Given the description of an element on the screen output the (x, y) to click on. 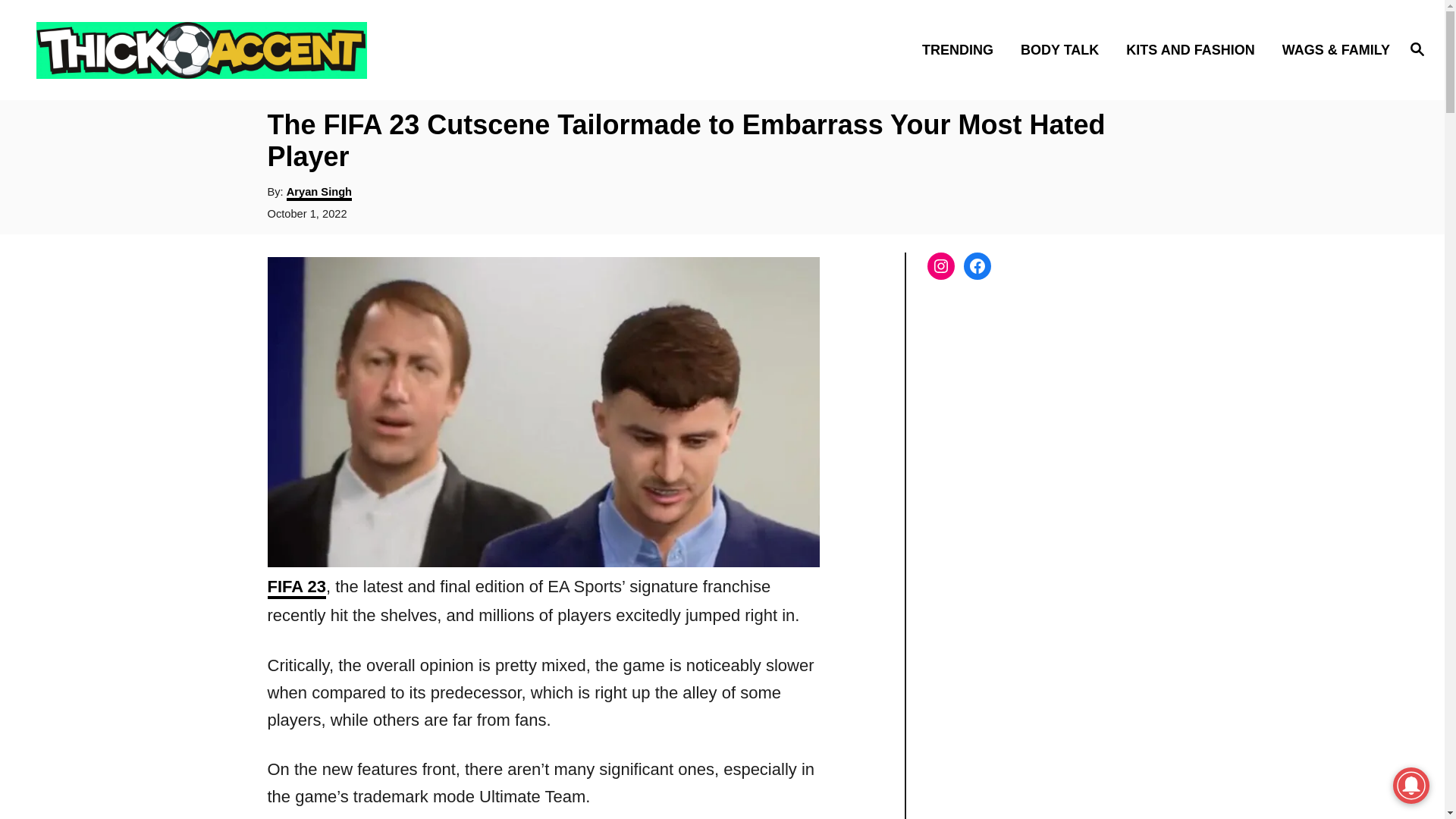
BODY TALK (1063, 49)
Thick Accent (204, 49)
Instagram (939, 266)
TRENDING (961, 49)
Facebook (976, 266)
Aryan Singh (319, 192)
Magnifying Glass (1416, 48)
FIFA 23 (295, 587)
KITS AND FASHION (1194, 49)
